Given the description of an element on the screen output the (x, y) to click on. 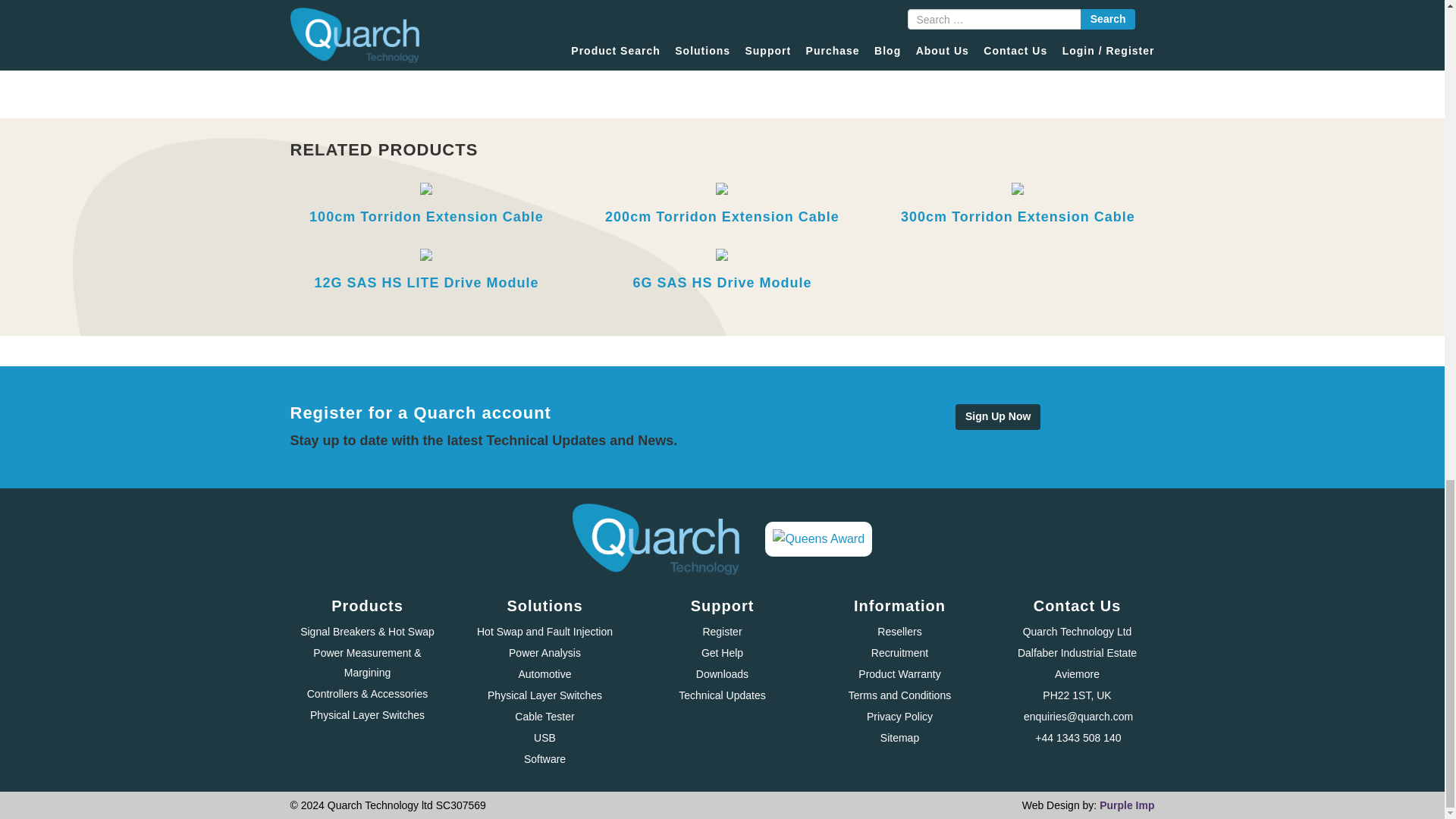
Quarch Logo (655, 538)
